Given the description of an element on the screen output the (x, y) to click on. 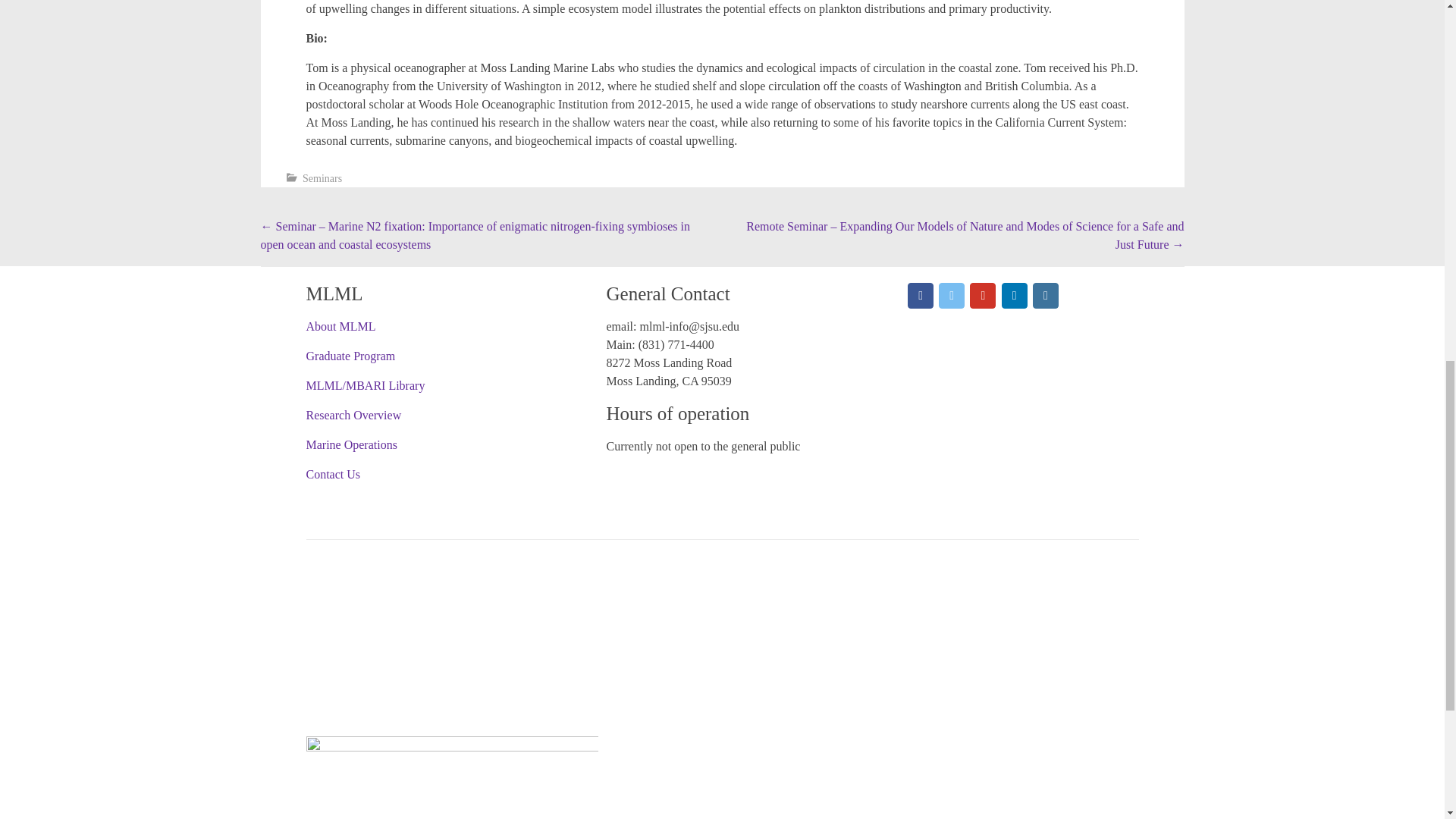
Moss Landing Marine Laboratories on X Twitter (951, 295)
San Jose State University: MLML's Administrative Campus (451, 764)
Moss Landing Marine Laboratories on Facebook (920, 295)
Moss Landing Marine Laboratories on Linkedin (1014, 295)
Moss Landing Marine Laboratories on Youtube (982, 295)
Moss Landing Marine Laboratories on Instagram (1045, 295)
